Given the description of an element on the screen output the (x, y) to click on. 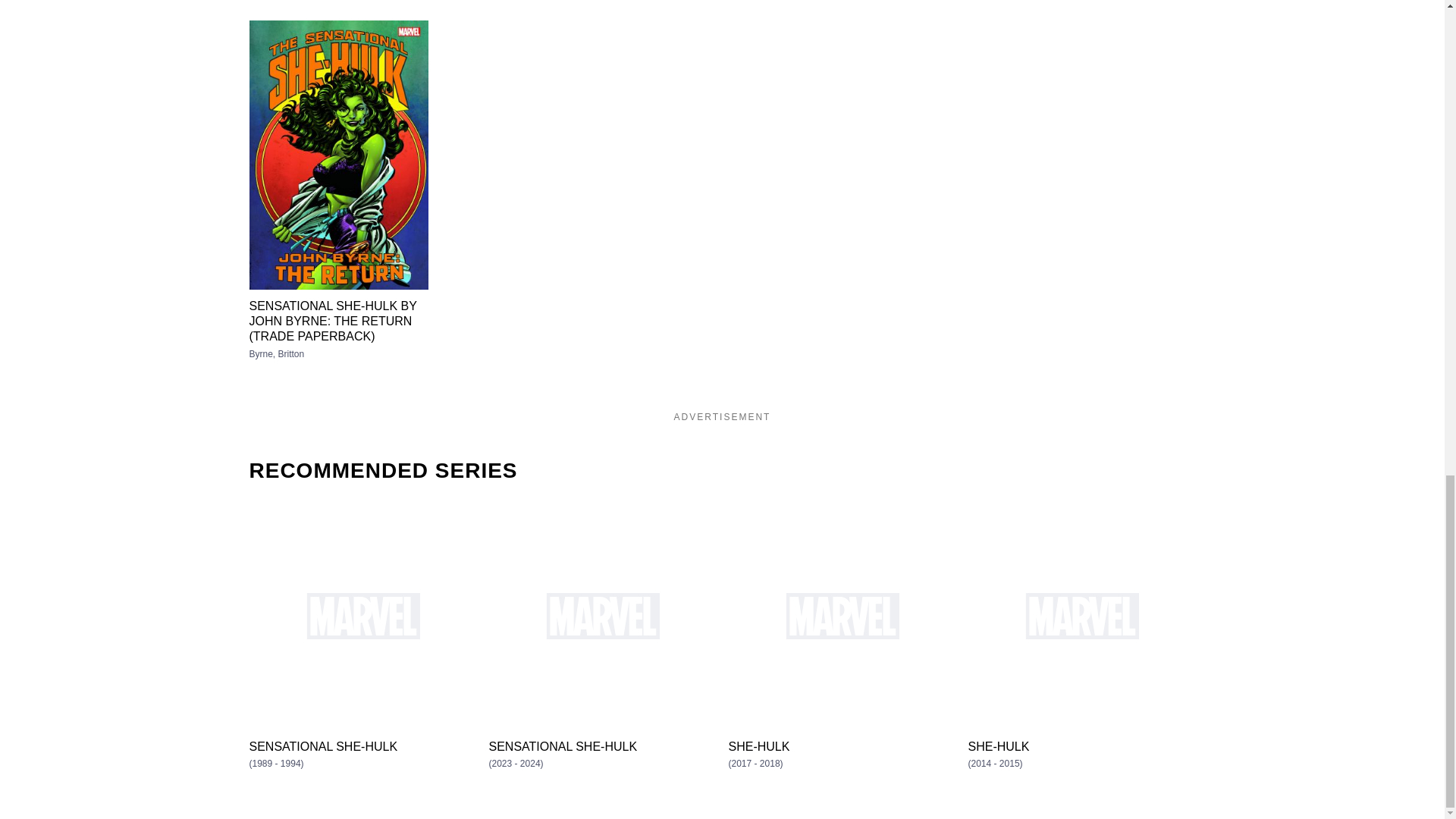
SENSATIONAL SHE-HULK (362, 746)
SHE-HULK (841, 746)
SHE-HULK (1081, 746)
Byrne (263, 353)
SENSATIONAL SHE-HULK (601, 746)
SEE ALL (1156, 0)
Britton (291, 353)
